Given the description of an element on the screen output the (x, y) to click on. 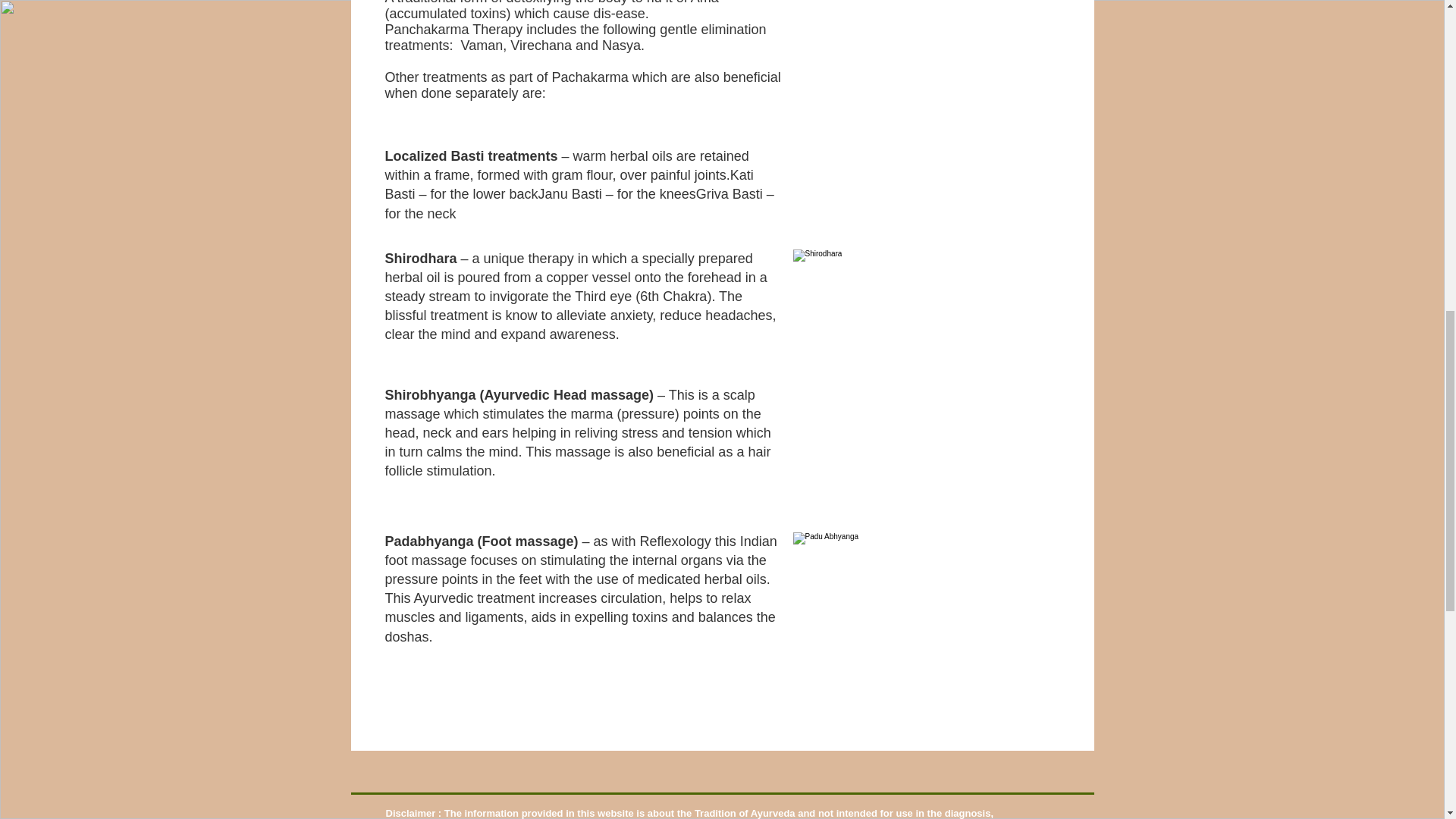
Ayurvedic Foot Massage (900, 595)
Shirodhara (906, 306)
